Given the description of an element on the screen output the (x, y) to click on. 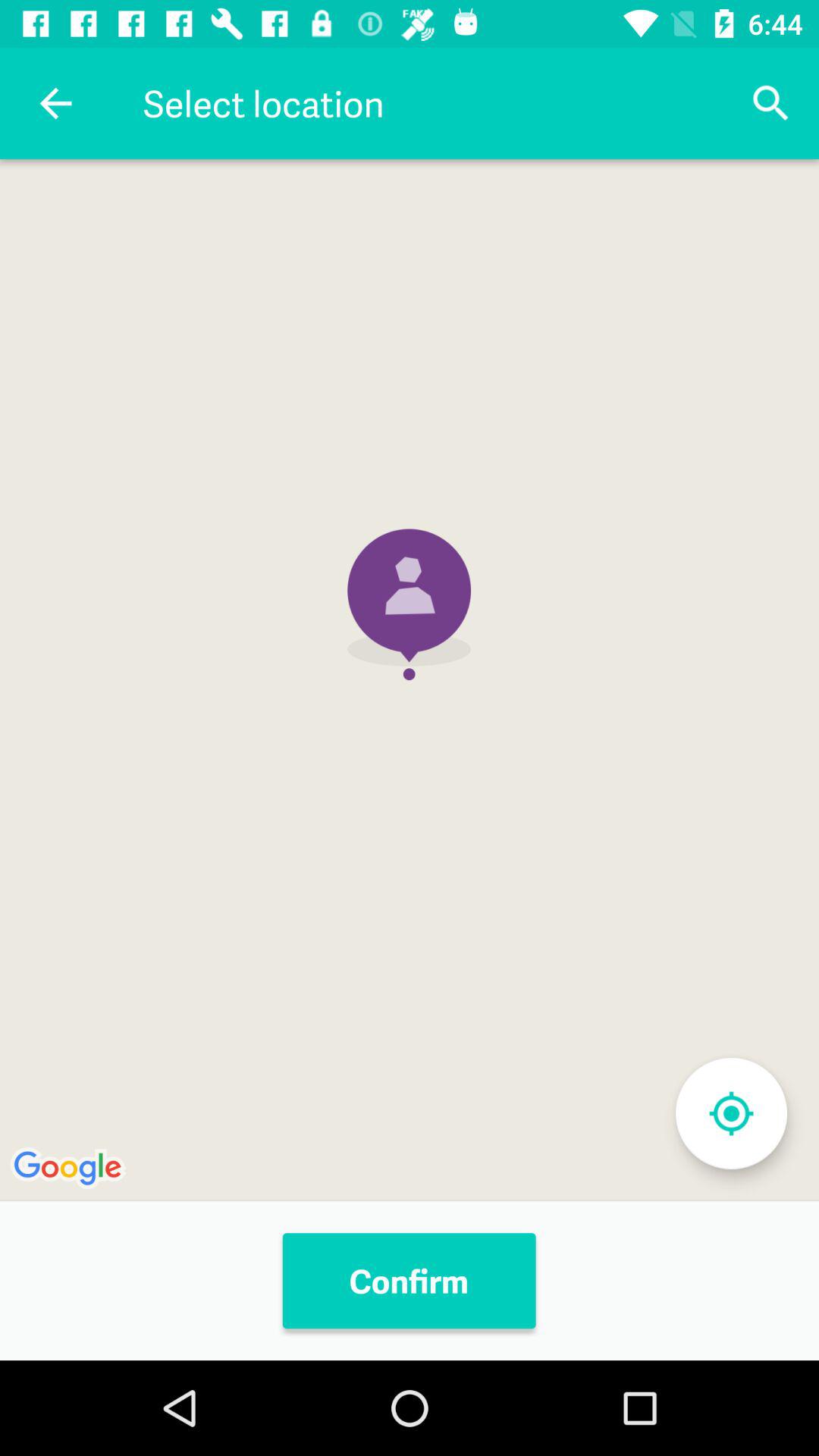
press confirm item (408, 1280)
